Given the description of an element on the screen output the (x, y) to click on. 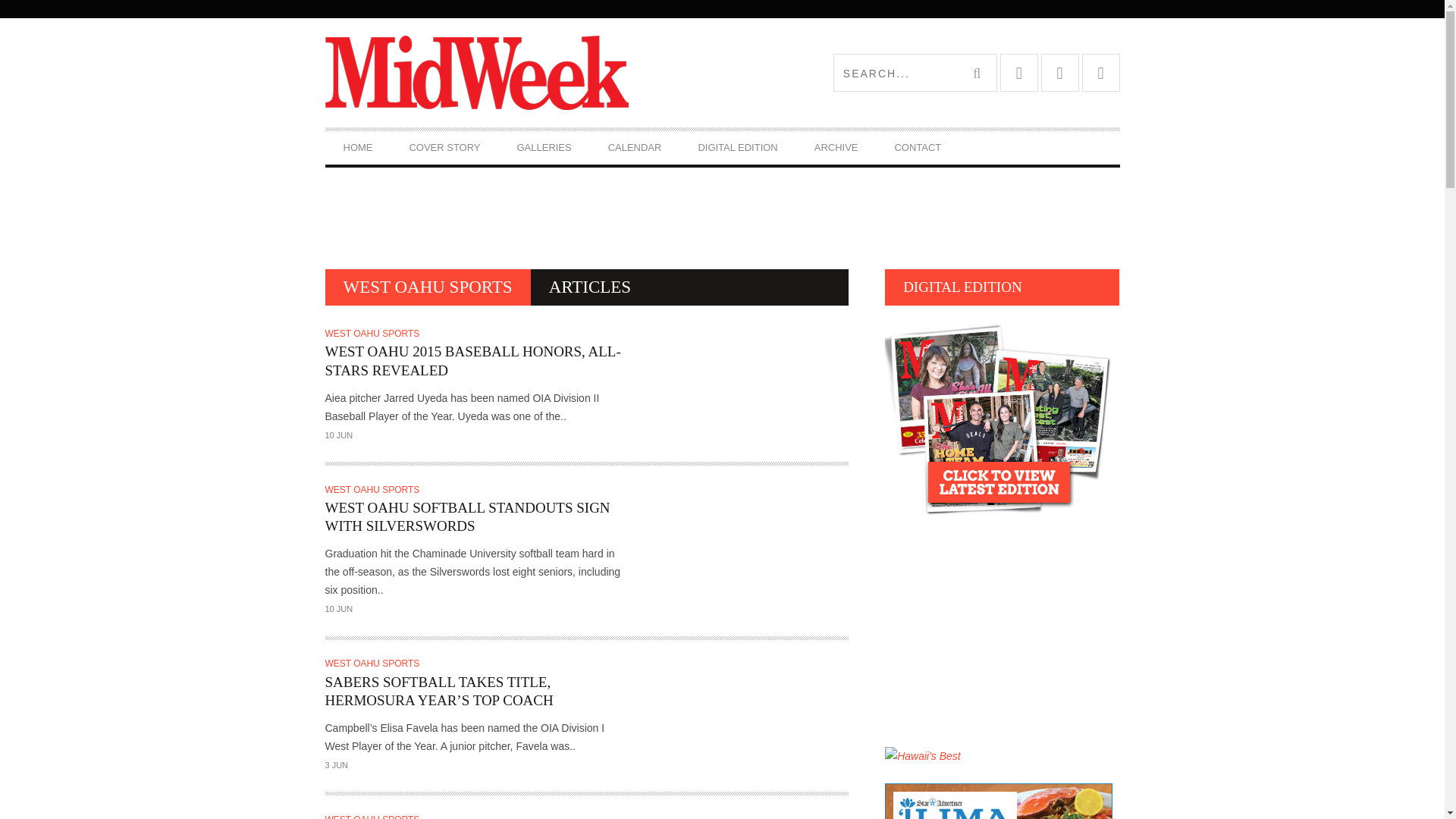
WEST OAHU SPORTS (373, 489)
CONTACT (917, 147)
CALENDAR (634, 147)
ARCHIVE (836, 147)
MidWeek (523, 72)
WEST OAHU SPORTS (373, 333)
View all posts in West Oahu Sports (373, 816)
WEST OAHU SOFTBALL STANDOUTS SIGN WITH SILVERSWORDS (473, 516)
HOME (357, 147)
View all posts in West Oahu Sports (373, 663)
COVER STORY (443, 147)
DIGITAL EDITION (736, 147)
WEST OAHU 2015 BASEBALL HONORS, ALL-STARS REVEALED (473, 361)
View all posts in West Oahu Sports (373, 333)
GALLERIES (544, 147)
